Given the description of an element on the screen output the (x, y) to click on. 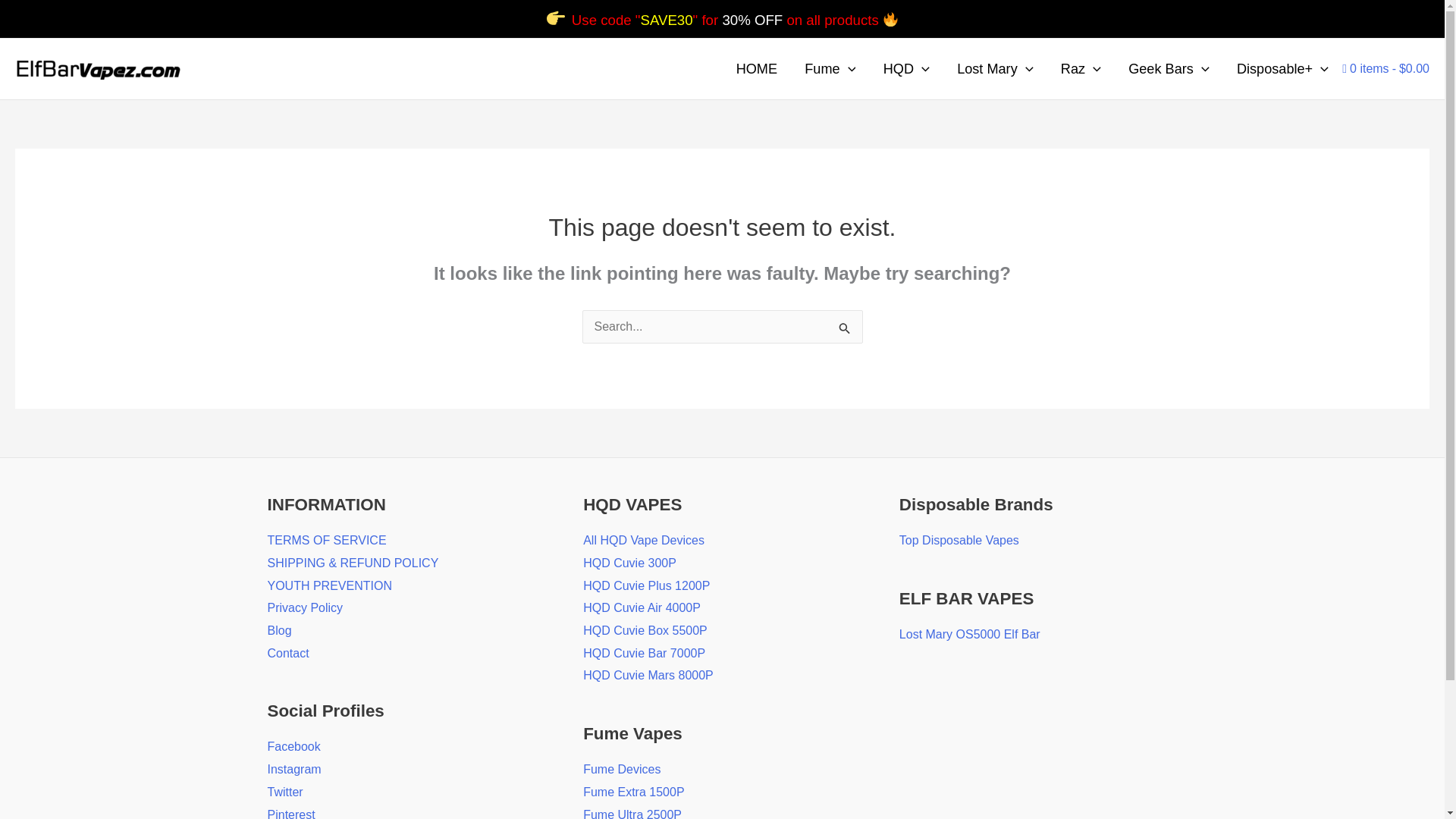
HQD (906, 68)
Raz (1080, 68)
Fume (829, 68)
Start shopping (1385, 68)
Lost Mary (994, 68)
HOME (756, 68)
Geek Bars (1169, 68)
